Given the description of an element on the screen output the (x, y) to click on. 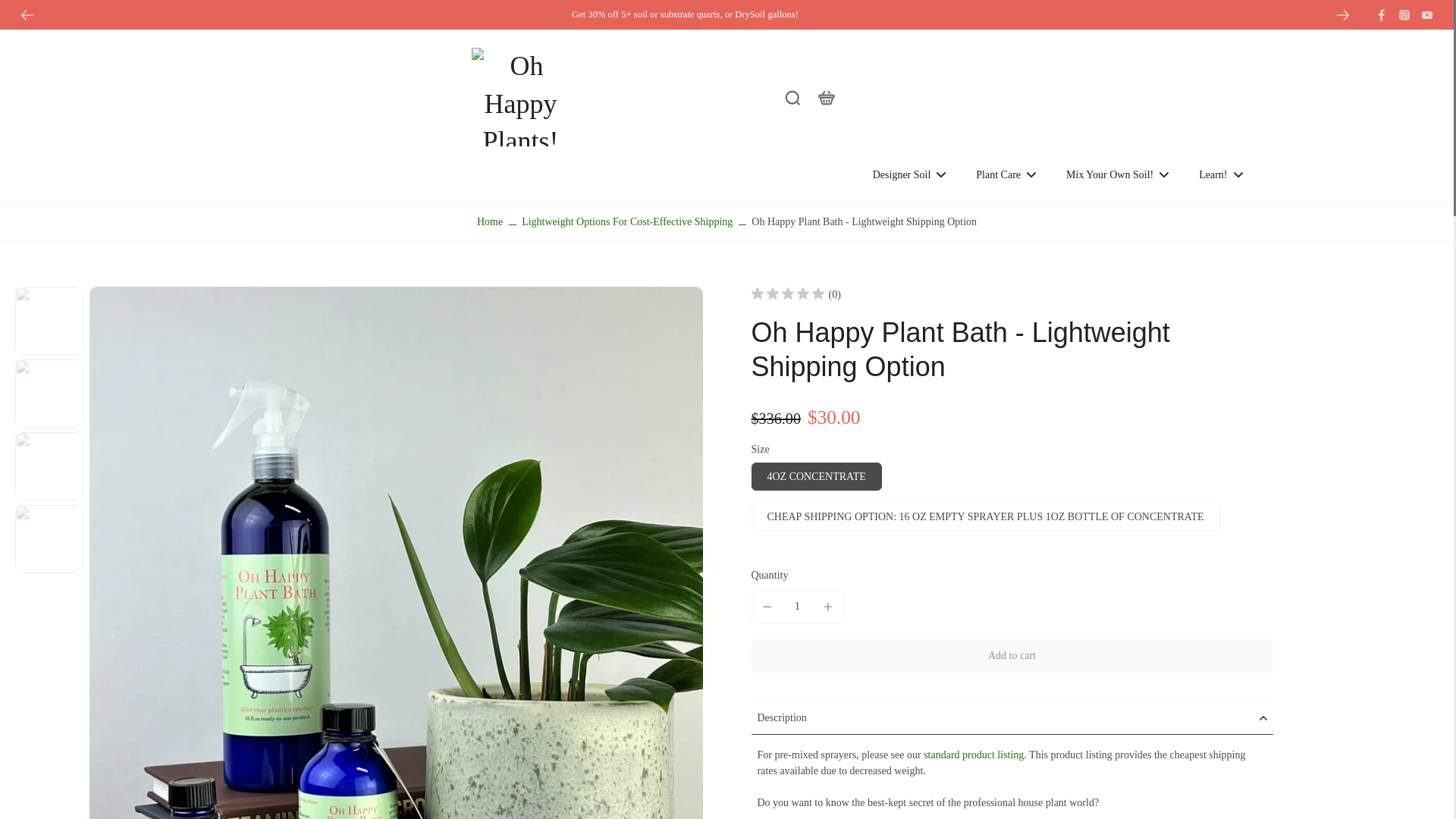
1 (797, 605)
Skip to content (19, 10)
Designer Soil (909, 174)
Plant Care (1005, 174)
Home (489, 221)
Lightweight Options for Cost-Effective Shipping (626, 221)
